Given the description of an element on the screen output the (x, y) to click on. 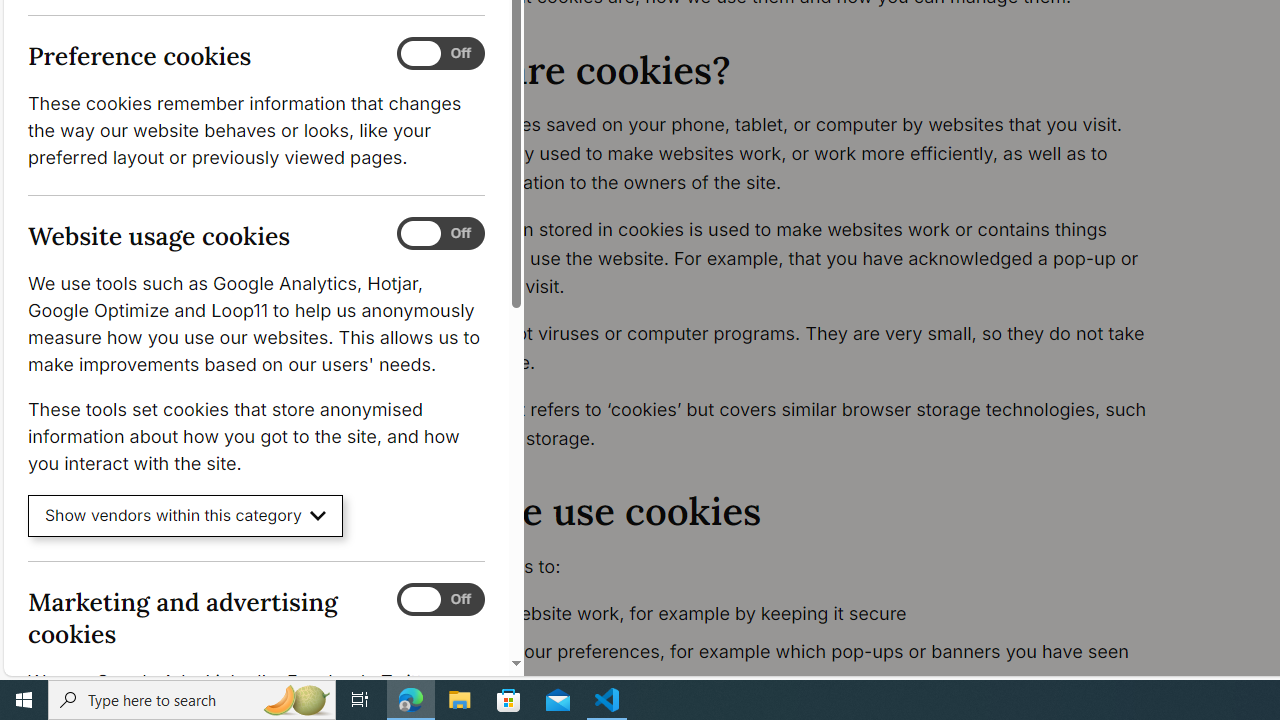
Website usage cookies (440, 233)
Preference cookies (440, 53)
make our website work, for example by keeping it secure (796, 614)
Marketing and advertising cookies (440, 599)
Show vendors within this category (185, 516)
